Given the description of an element on the screen output the (x, y) to click on. 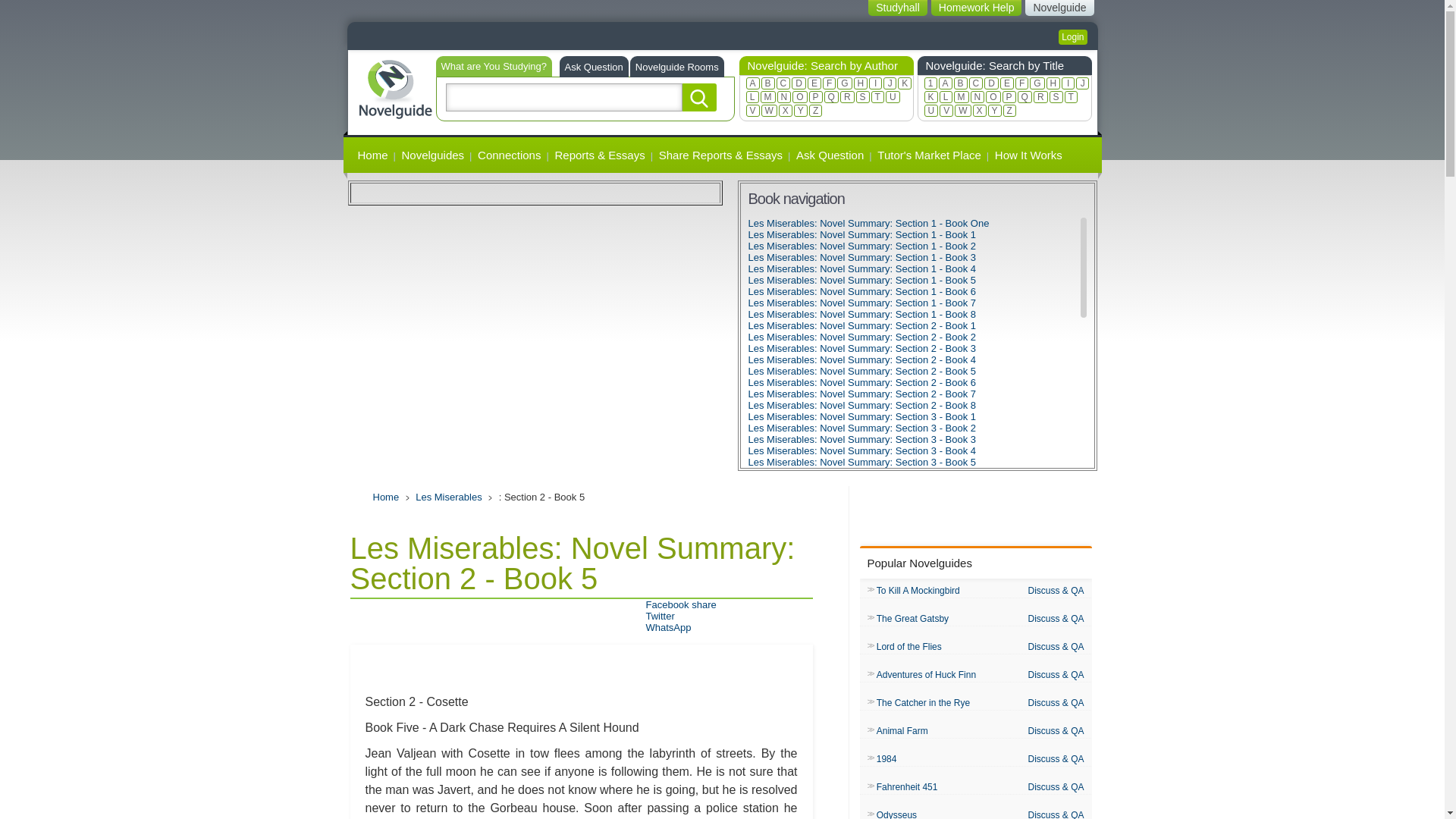
Home (394, 87)
Enter the terms you wish to search for. (563, 97)
Search (699, 97)
How It Works (1028, 154)
Homework Help (981, 7)
Login (1072, 37)
Novelguide (1061, 7)
Novelguides (433, 154)
Login to get help or to help others (1072, 37)
